Given the description of an element on the screen output the (x, y) to click on. 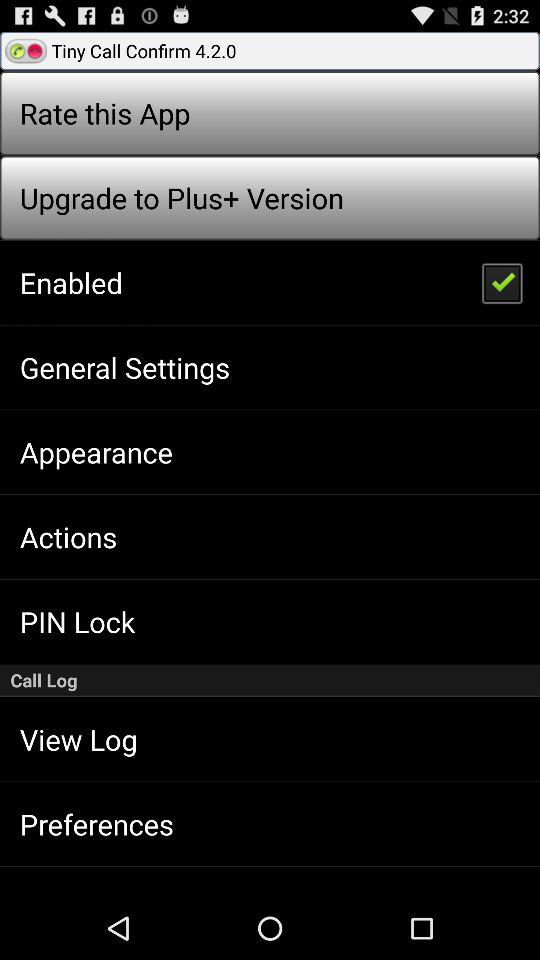
scroll until the pin lock app (77, 621)
